Given the description of an element on the screen output the (x, y) to click on. 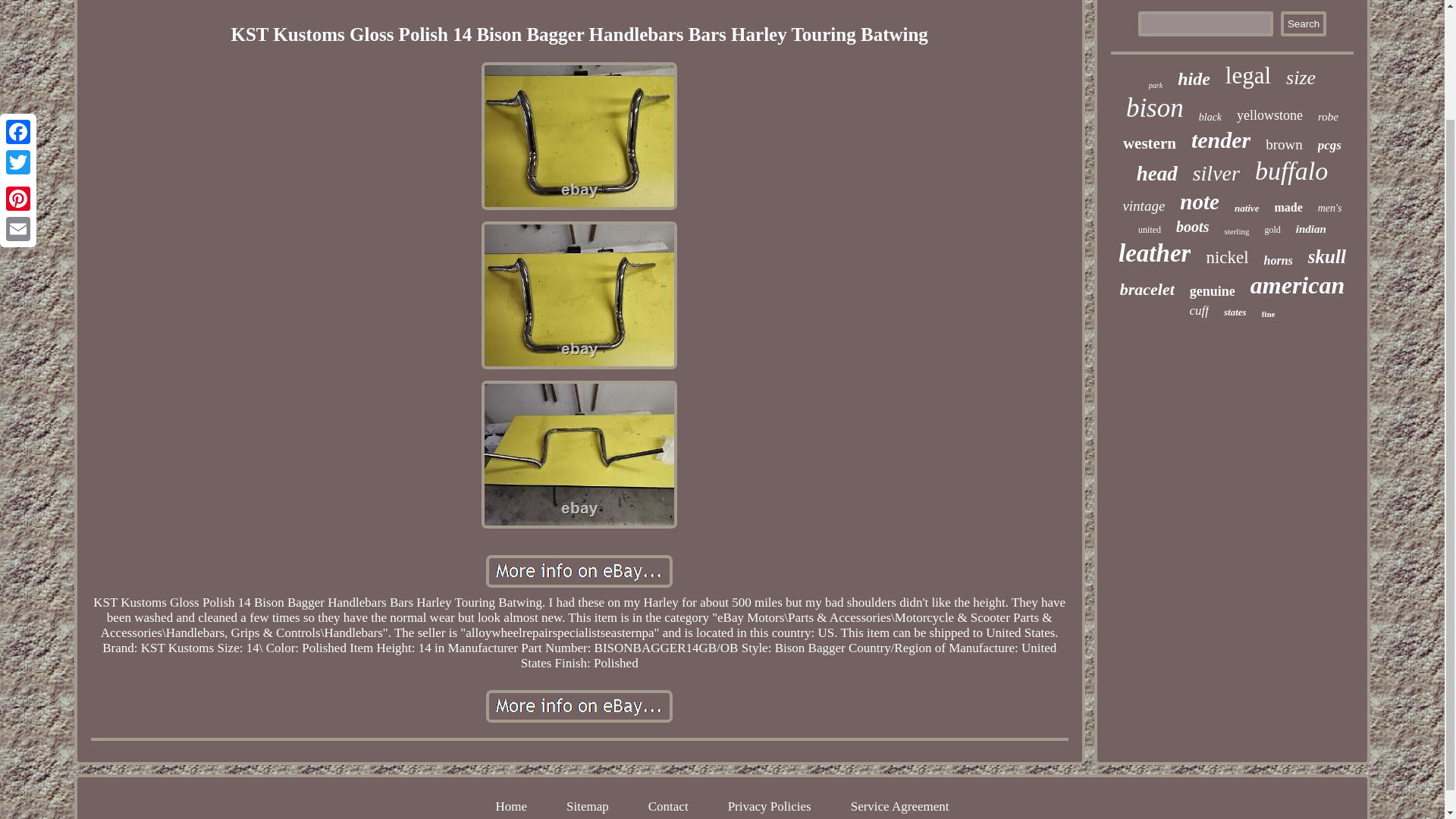
black (1209, 117)
robe (1327, 116)
Email (17, 95)
head (1157, 173)
legal (1248, 75)
made (1287, 207)
Pinterest (17, 64)
brown (1284, 144)
men's (1329, 208)
pcgs (1328, 145)
Search (1303, 23)
tender (1220, 140)
